Given the description of an element on the screen output the (x, y) to click on. 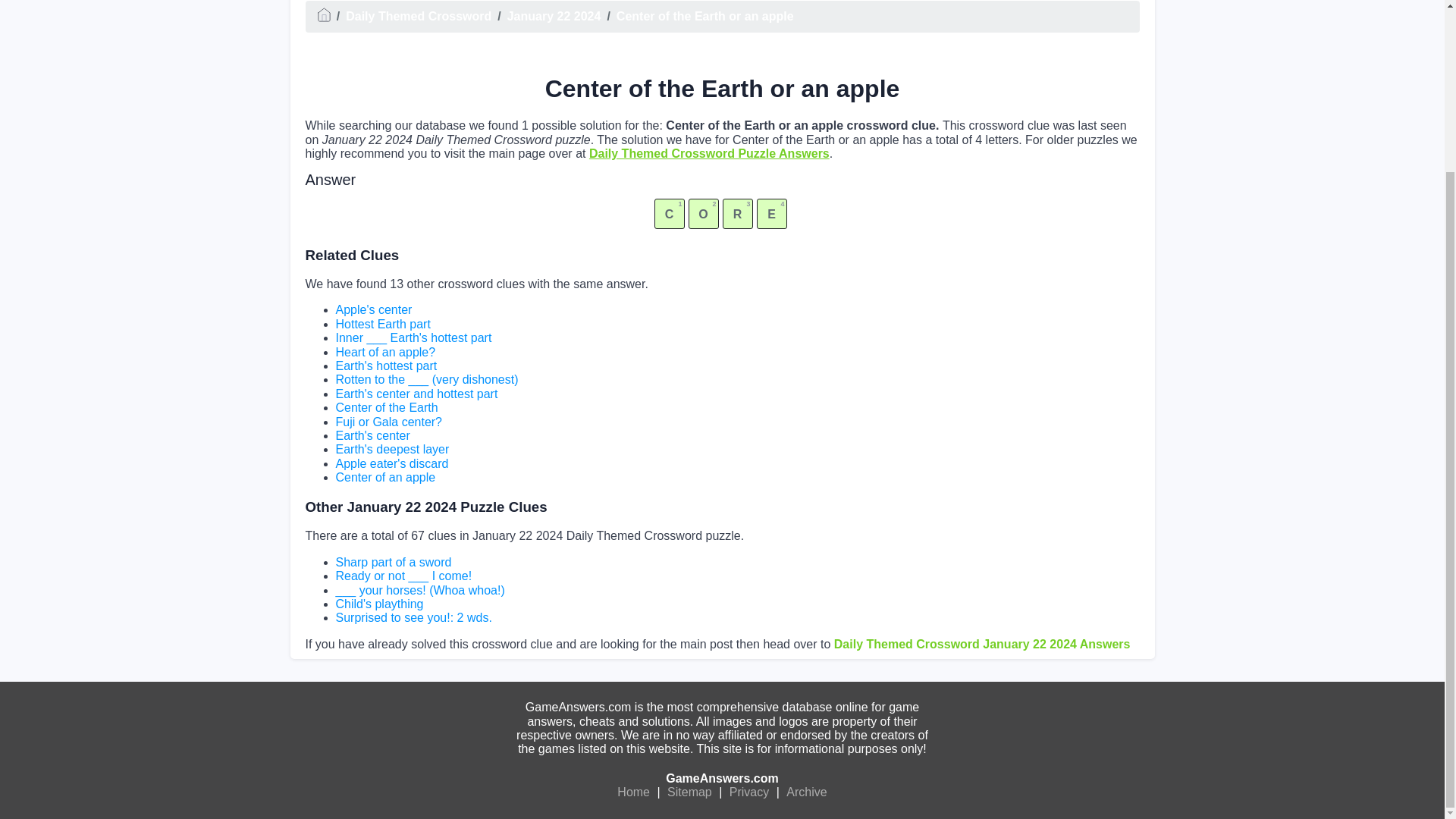
Daily Themed Crossword January 22 2024 Answers (982, 644)
Privacy (749, 792)
Daily Themed Crossword (419, 15)
Center of an apple (384, 477)
Earth's deepest layer (391, 449)
Earth's center (371, 435)
Center of the Earth (386, 407)
Surprised to see you!: 2 wds. (413, 617)
Child's plaything (378, 603)
Apple eater's discard (391, 463)
